Given the description of an element on the screen output the (x, y) to click on. 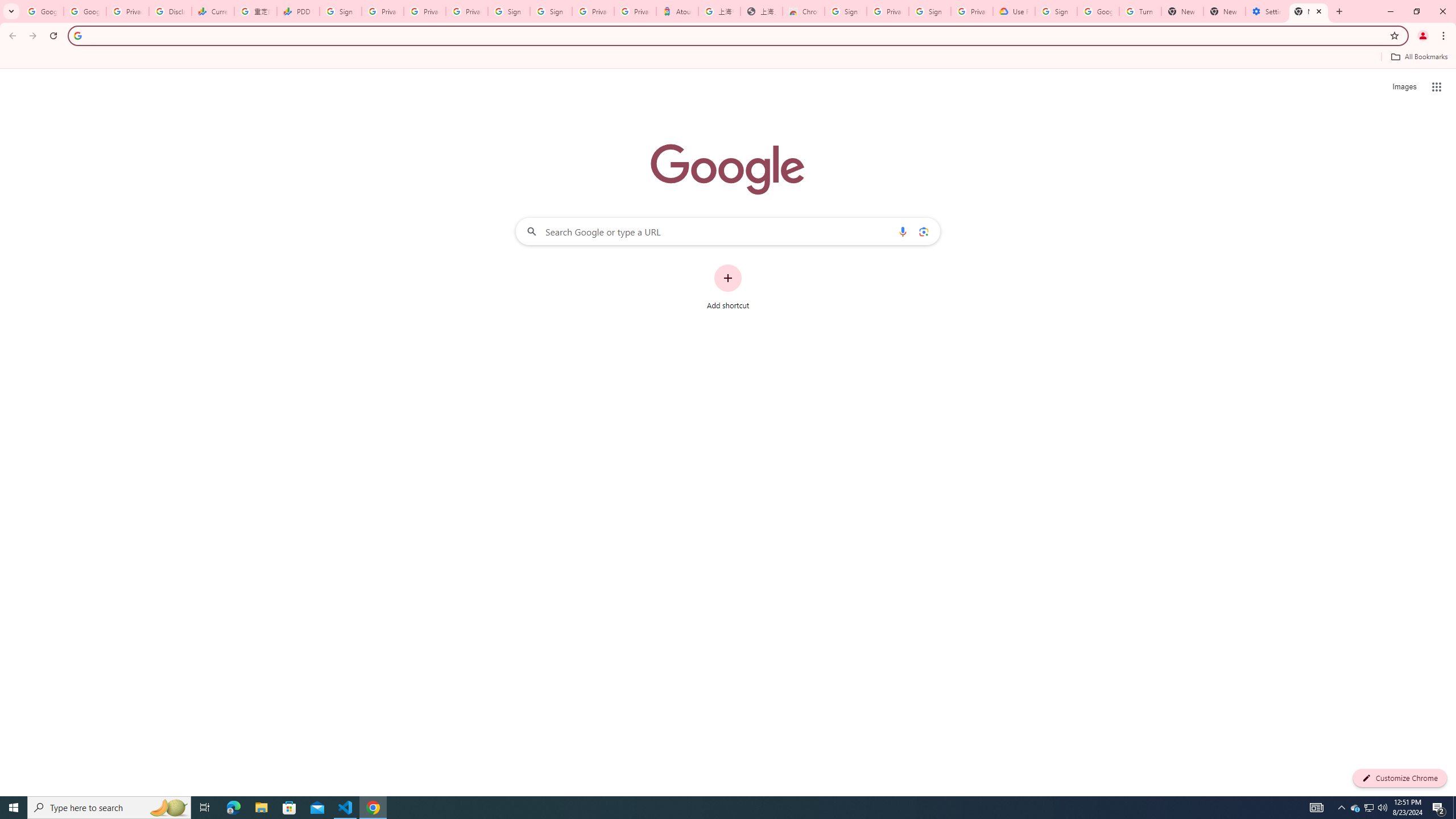
Settings - System (1266, 11)
Sign in - Google Accounts (1055, 11)
Google Account Help (1097, 11)
Sign in - Google Accounts (845, 11)
Atour Hotel - Google hotels (676, 11)
Turn cookies on or off - Computer - Google Account Help (1139, 11)
